Given the description of an element on the screen output the (x, y) to click on. 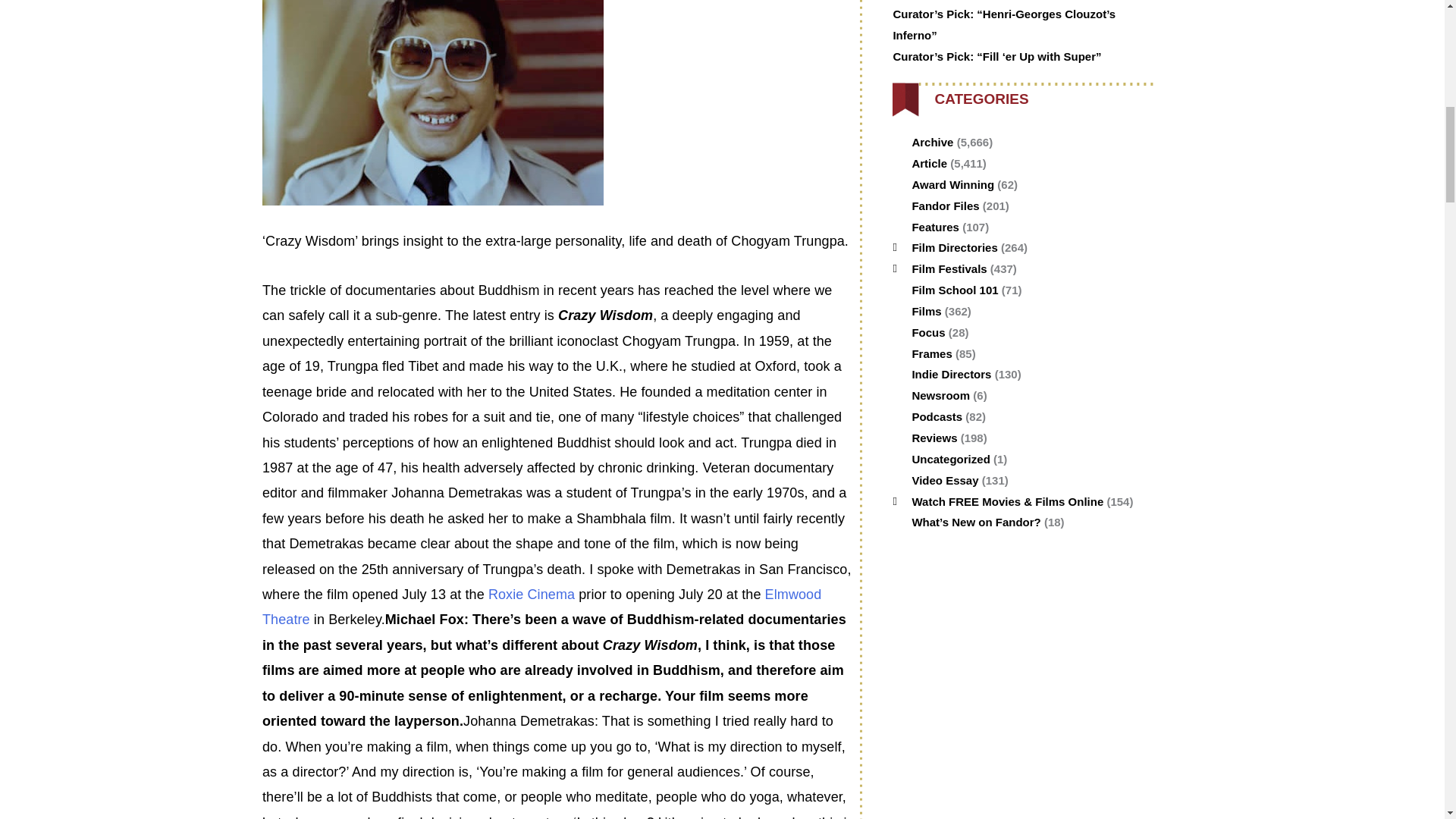
Roxie Cinema (531, 594)
Elmwood Theatre (541, 607)
Fandor Files (944, 205)
crazy2 (433, 102)
Article (929, 163)
Award Winning (952, 184)
Features (935, 226)
Film Festivals (949, 268)
Archive (932, 141)
Film Directories (954, 246)
